Given the description of an element on the screen output the (x, y) to click on. 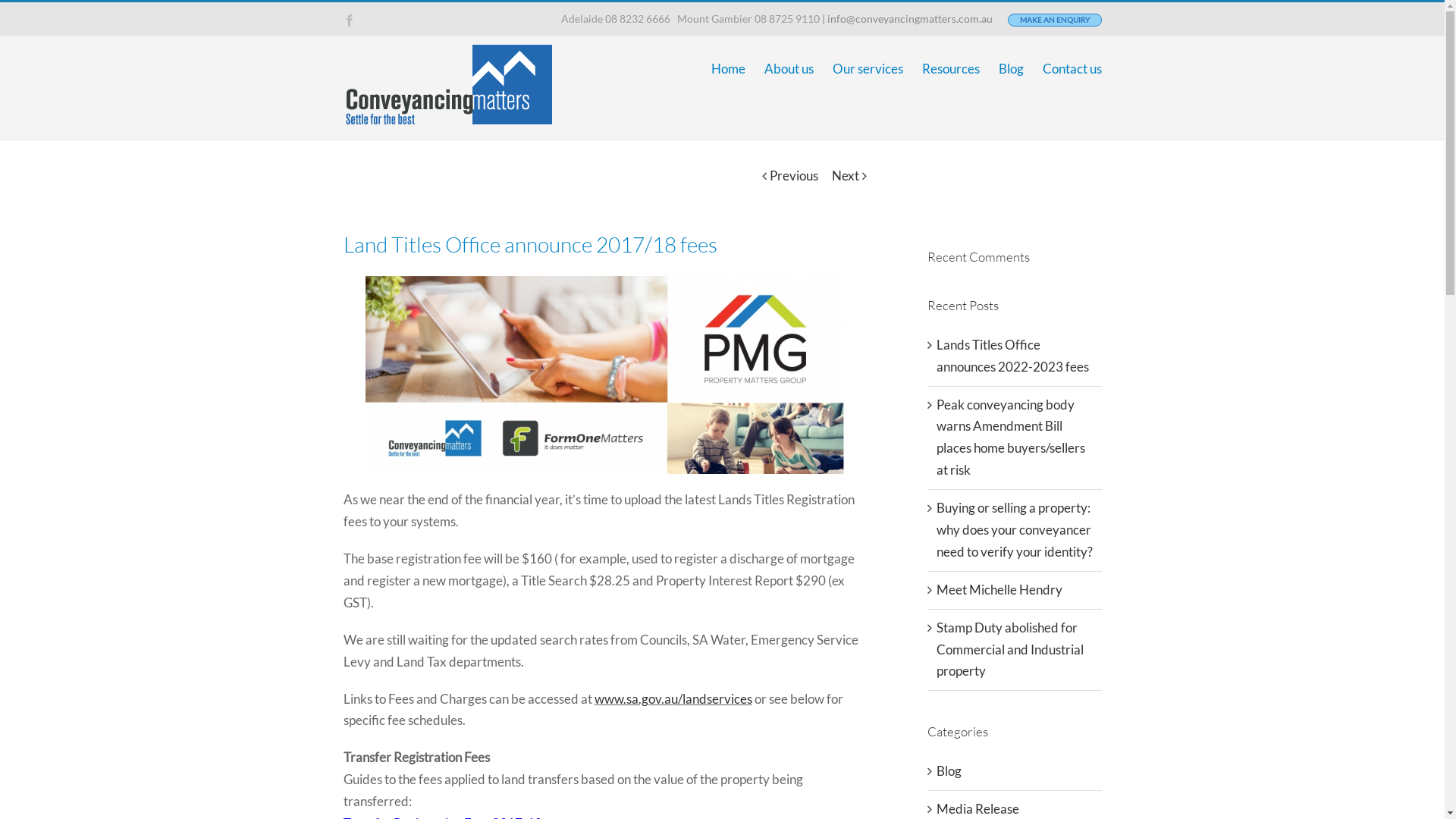
Previous Element type: text (792, 175)
Meet Michelle Hendry Element type: text (998, 589)
Contact us Element type: text (1071, 68)
About us Element type: text (788, 68)
Lands Titles Office announces 2022-2023 fees Element type: text (1011, 355)
Blog Element type: text (1014, 771)
Facebook Element type: text (348, 19)
Home Element type: text (728, 68)
MAKE AN ENQUIRY Element type: text (1054, 19)
Mount Gambier 08 8725 9110 Element type: text (746, 18)
Stamp Duty abolished for Commercial and Industrial property Element type: text (1008, 649)
Our services Element type: text (867, 68)
www.sa.gov.au/landservices Element type: text (673, 698)
Adelaide 08 8232 6666 Element type: text (615, 18)
Blog Element type: text (1009, 68)
Resources Element type: text (950, 68)
Next Element type: text (844, 175)
